Given the description of an element on the screen output the (x, y) to click on. 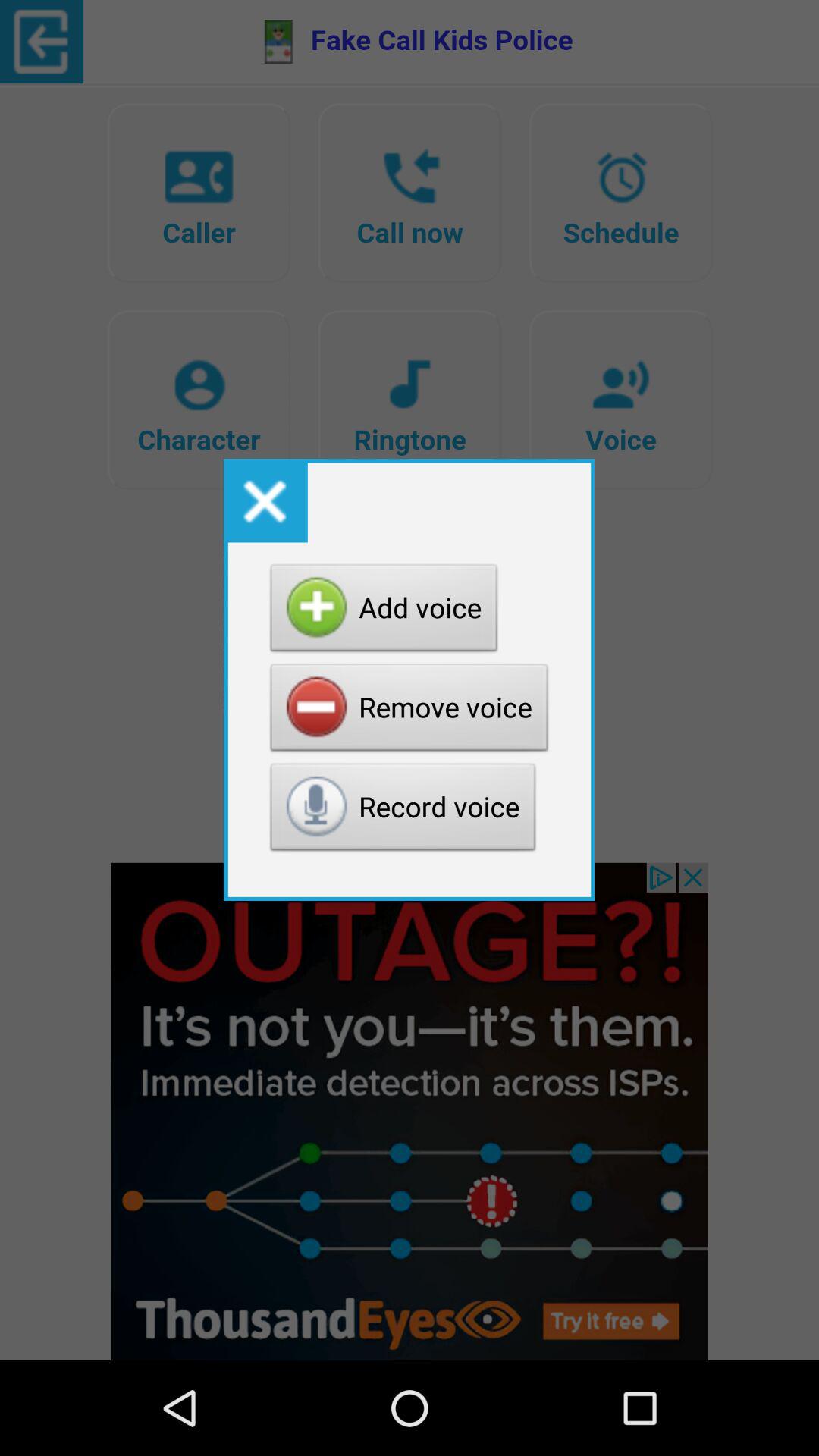
choose the icon above the add voice button (265, 500)
